Given the description of an element on the screen output the (x, y) to click on. 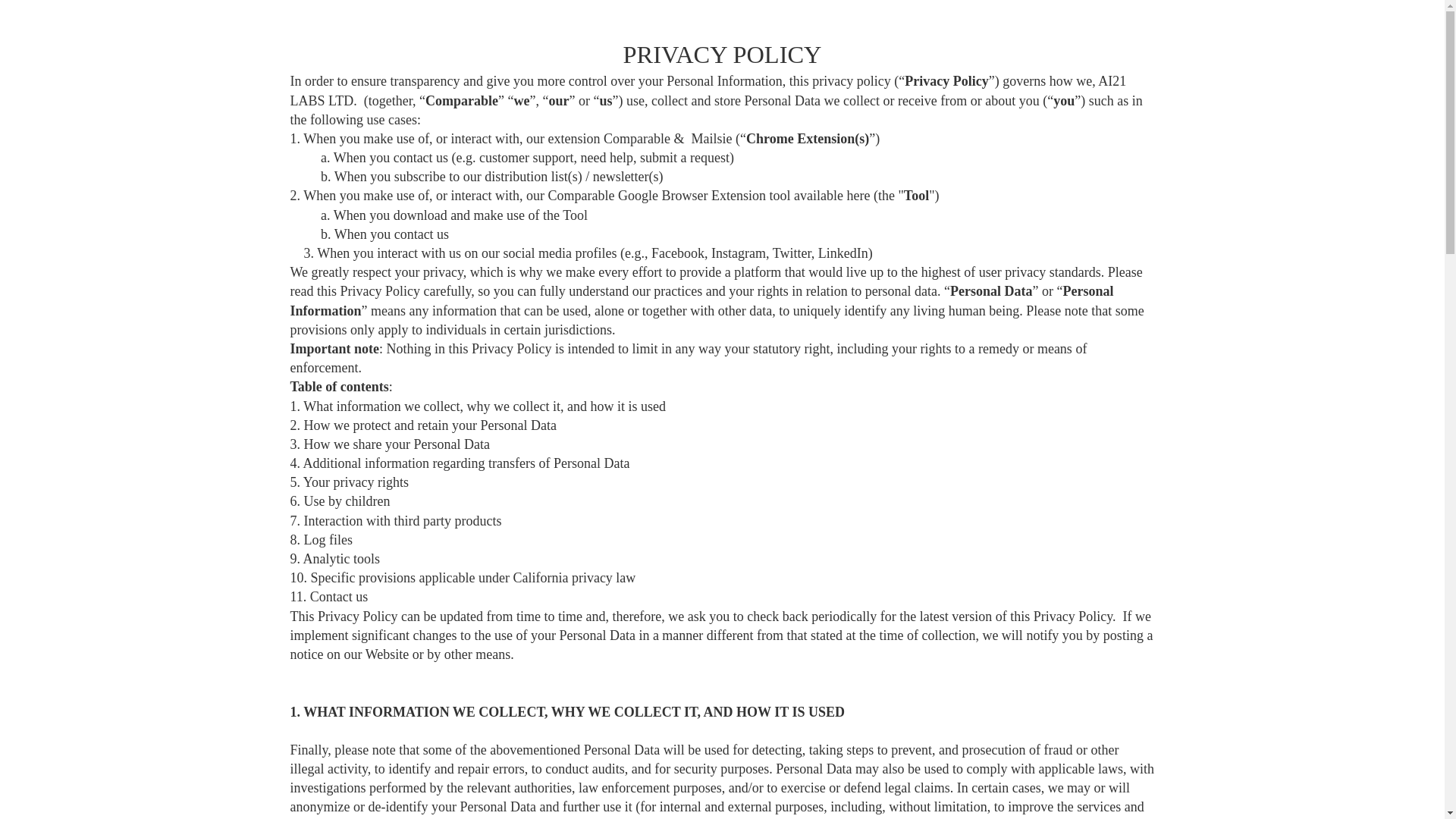
here (857, 195)
